Given the description of an element on the screen output the (x, y) to click on. 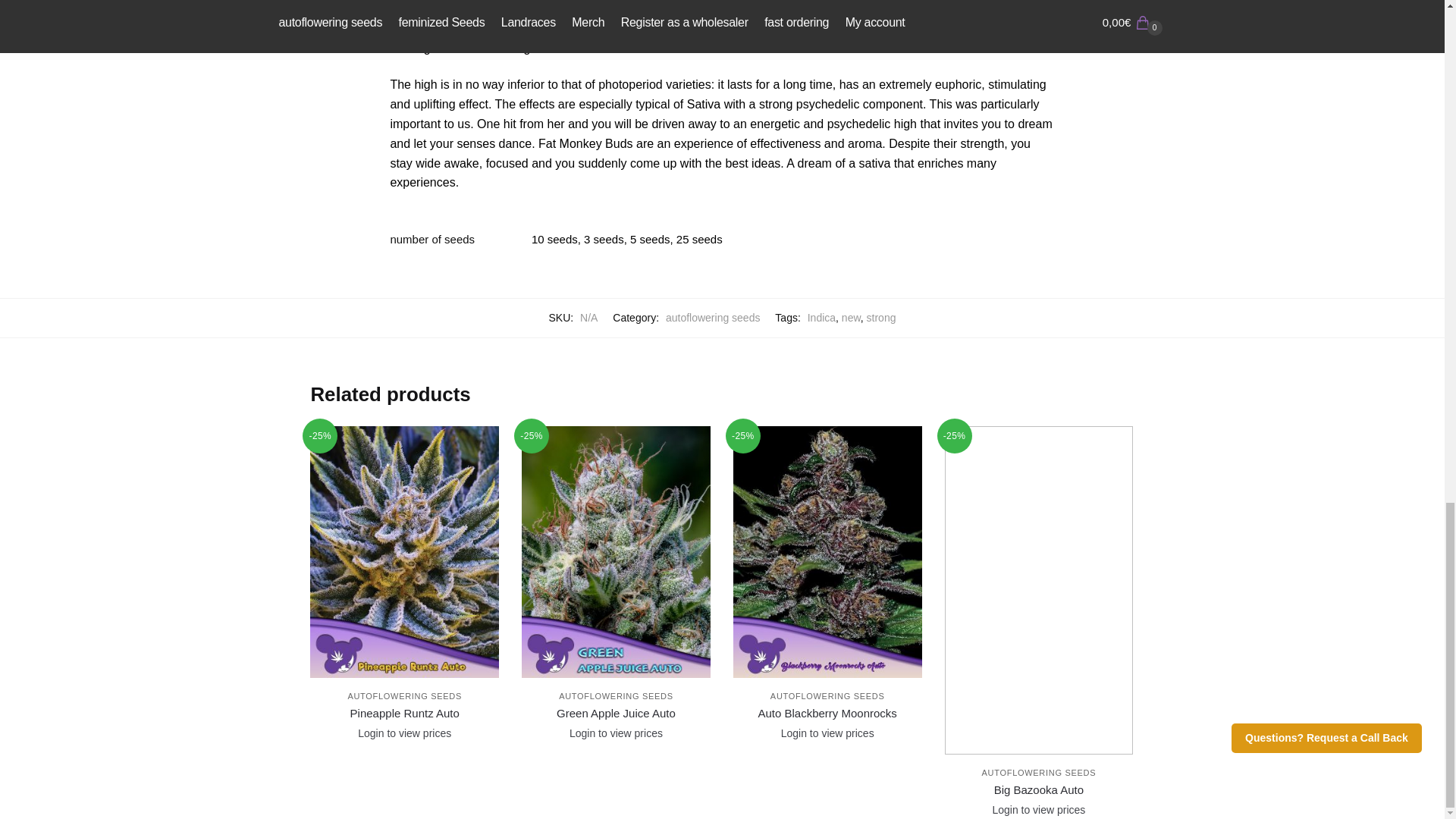
strong (881, 317)
autoflowering seeds (712, 317)
Pineapple Runtz Auto (404, 713)
Green Apple Juice Auto (615, 713)
AUTOFLOWERING SEEDS (404, 696)
AUTOFLOWERING SEEDS (615, 696)
new (850, 317)
Indica (821, 317)
